Given the description of an element on the screen output the (x, y) to click on. 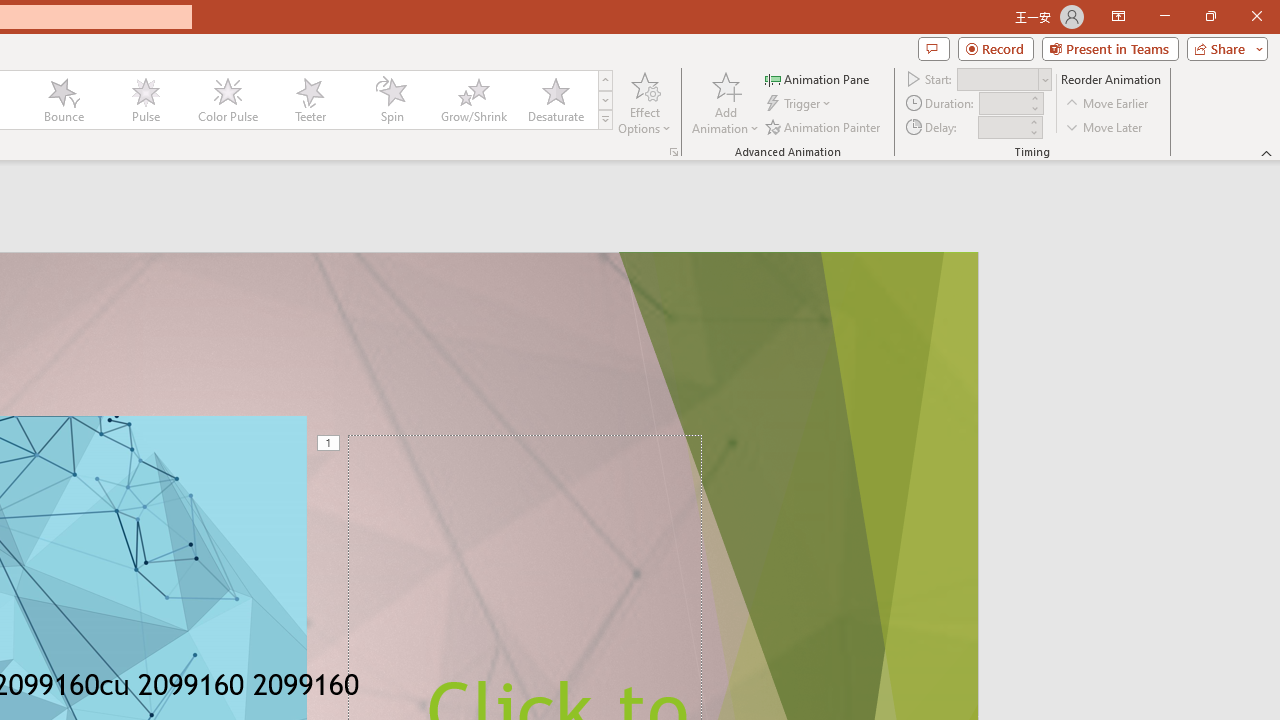
Bounce (63, 100)
Pulse (145, 100)
Less (1033, 132)
